Given the description of an element on the screen output the (x, y) to click on. 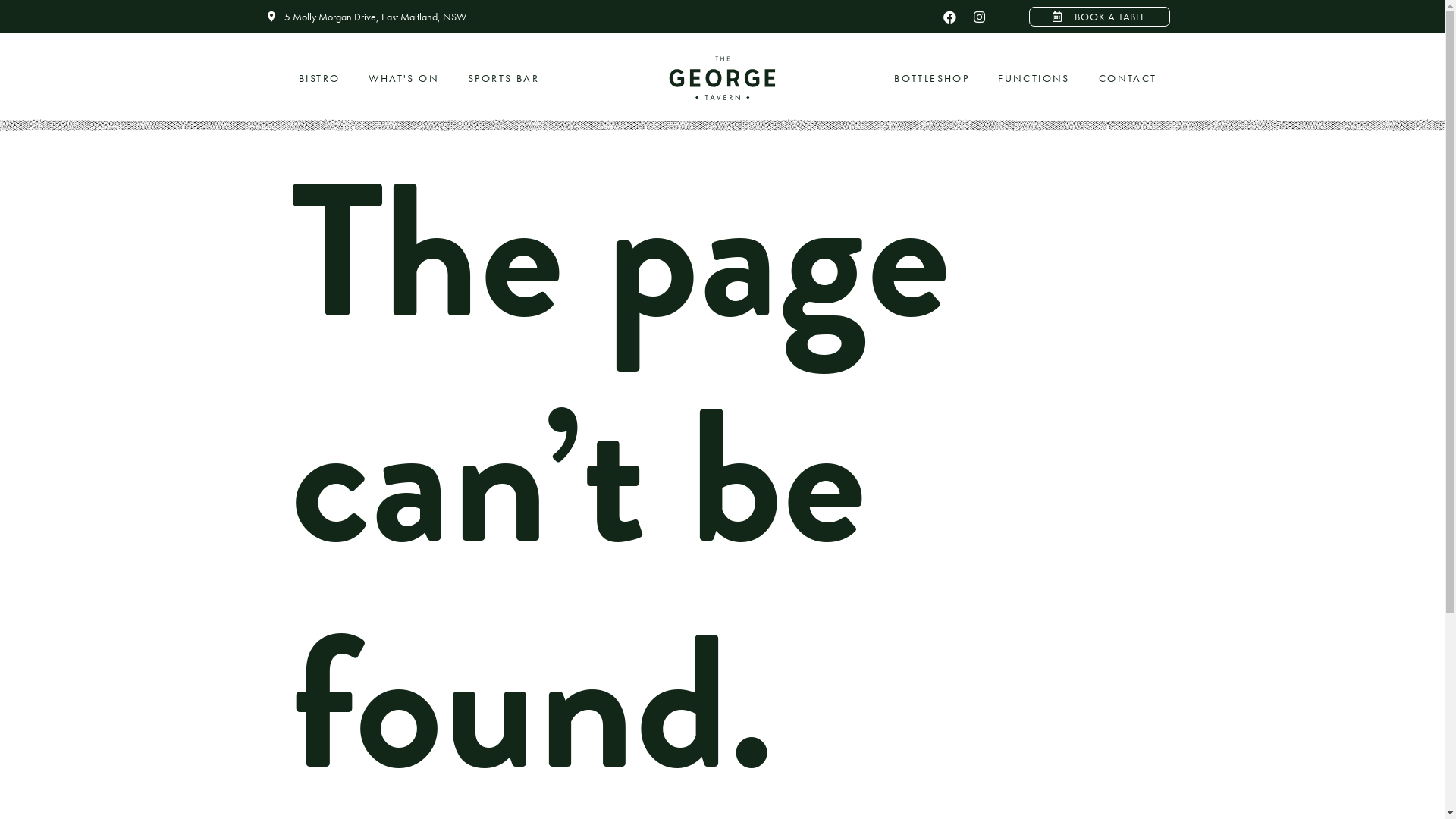
5 Molly Morgan Drive, East Maitland, NSW Element type: text (585, 17)
BOOK A TABLE Element type: text (1099, 16)
CONTACT Element type: text (1127, 78)
BISTRO Element type: text (318, 78)
WHAT'S ON Element type: text (403, 78)
SPORTS BAR Element type: text (503, 78)
BOTTLESHOP Element type: text (931, 78)
FUNCTIONS Element type: text (1033, 78)
